Given the description of an element on the screen output the (x, y) to click on. 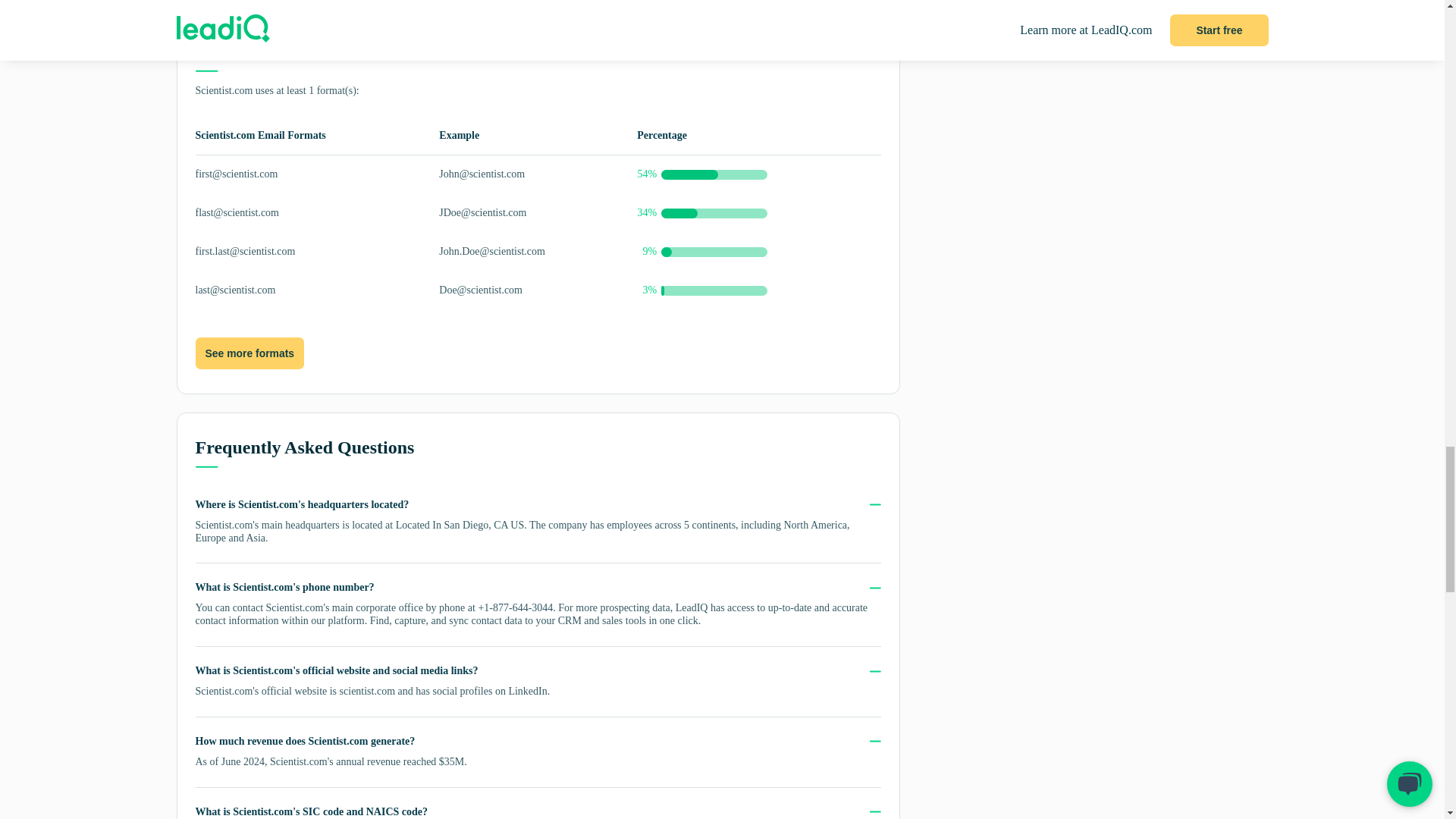
scientist.com (367, 690)
See more formats (249, 353)
LinkedIn (527, 690)
See more formats (249, 353)
